Given the description of an element on the screen output the (x, y) to click on. 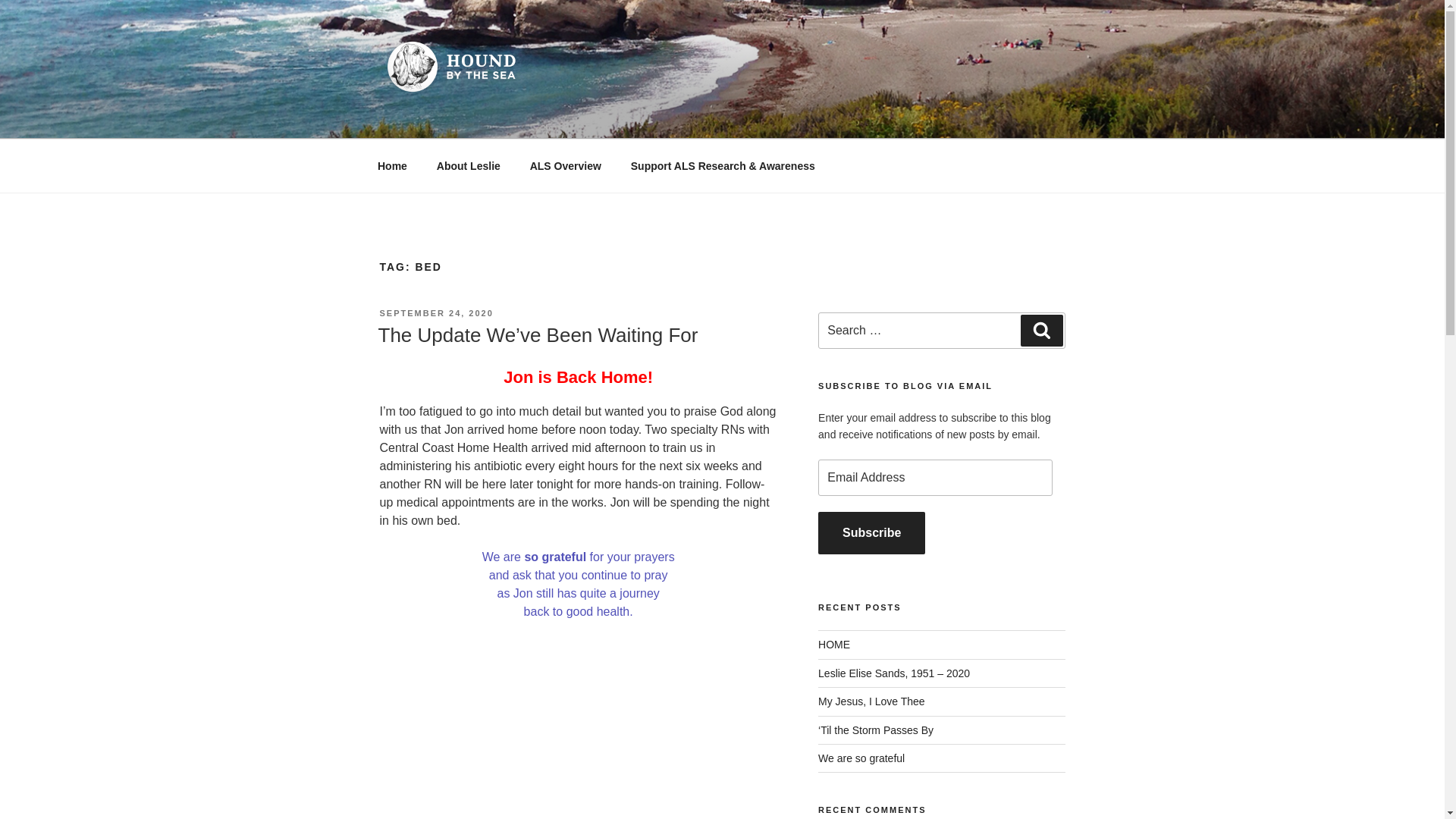
ALS Overview (565, 165)
My Jesus, I Love Thee (871, 701)
We are so grateful (861, 758)
HOME (834, 644)
SEPTEMBER 24, 2020 (435, 312)
Martha Olsen Fernandez Foundation (722, 165)
Home (392, 165)
Subscribe (871, 532)
About Leslie (468, 165)
Search (1041, 330)
HOUND BY THE SEA (531, 119)
